Given the description of an element on the screen output the (x, y) to click on. 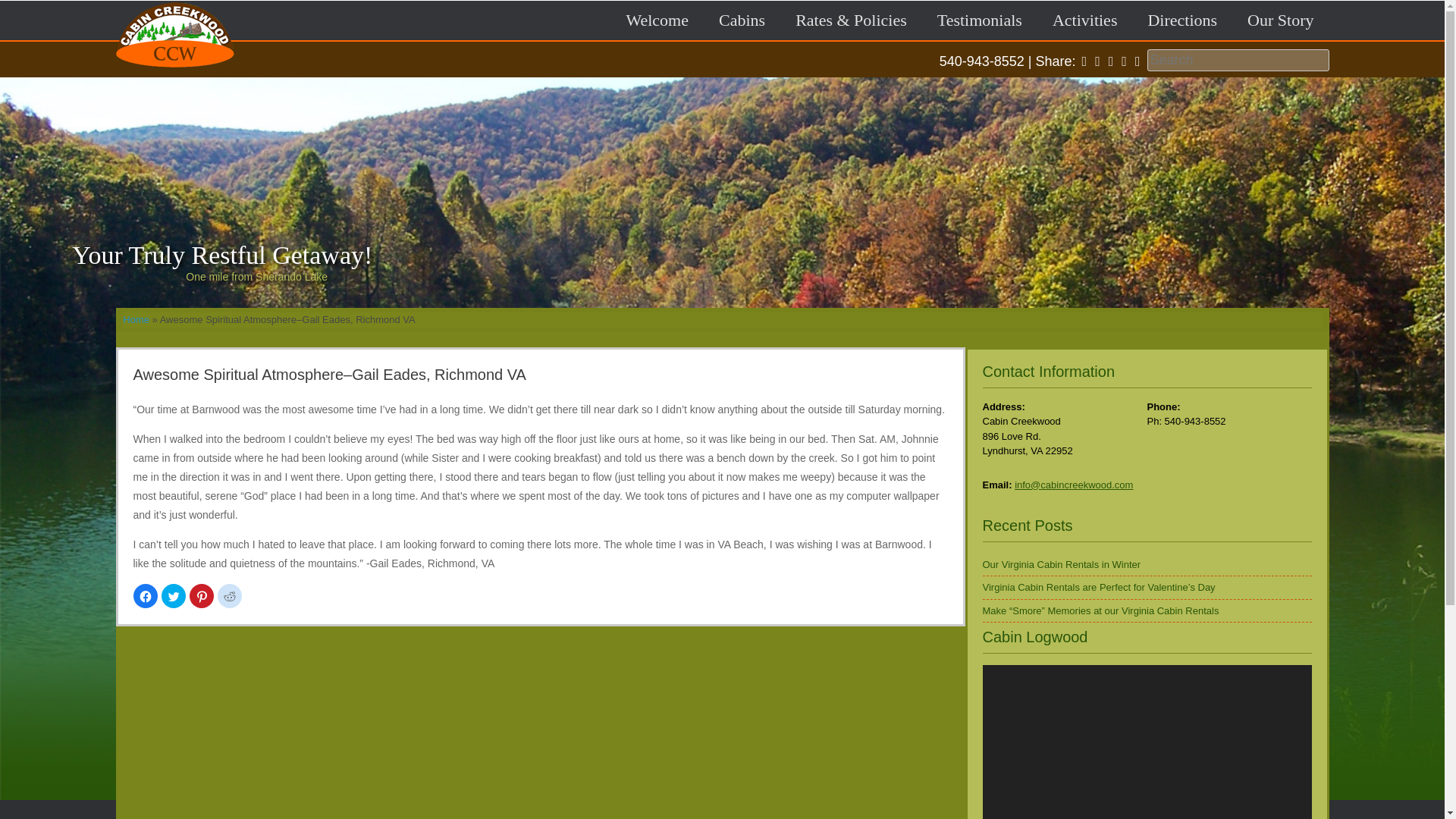
Our Story (1279, 20)
Click to share on Twitter (172, 595)
Our Virginia Cabin Rentals in Winter (1061, 563)
Click to share on Pinterest (201, 595)
Testimonials (978, 20)
Click to share on Reddit (228, 595)
Directions (1181, 20)
Cabin Creekwood (173, 75)
One mile from Sherando Lake (490, 277)
Cabins (741, 20)
Welcome (656, 20)
Click to share on Facebook (145, 595)
Activities (1084, 20)
Home (135, 319)
